Given the description of an element on the screen output the (x, y) to click on. 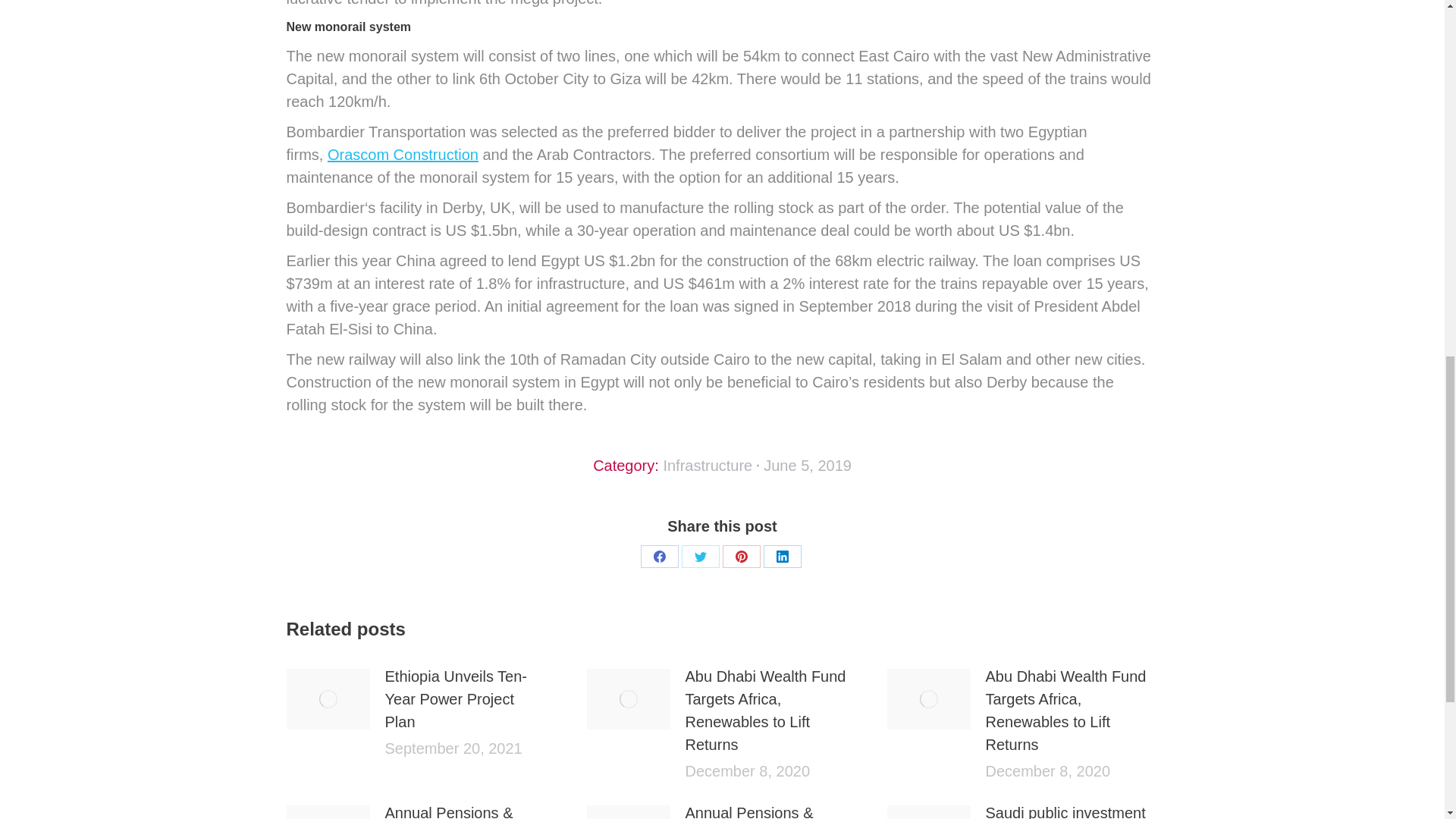
Twitter (700, 556)
7:39 am (806, 465)
Facebook (659, 556)
